Given the description of an element on the screen output the (x, y) to click on. 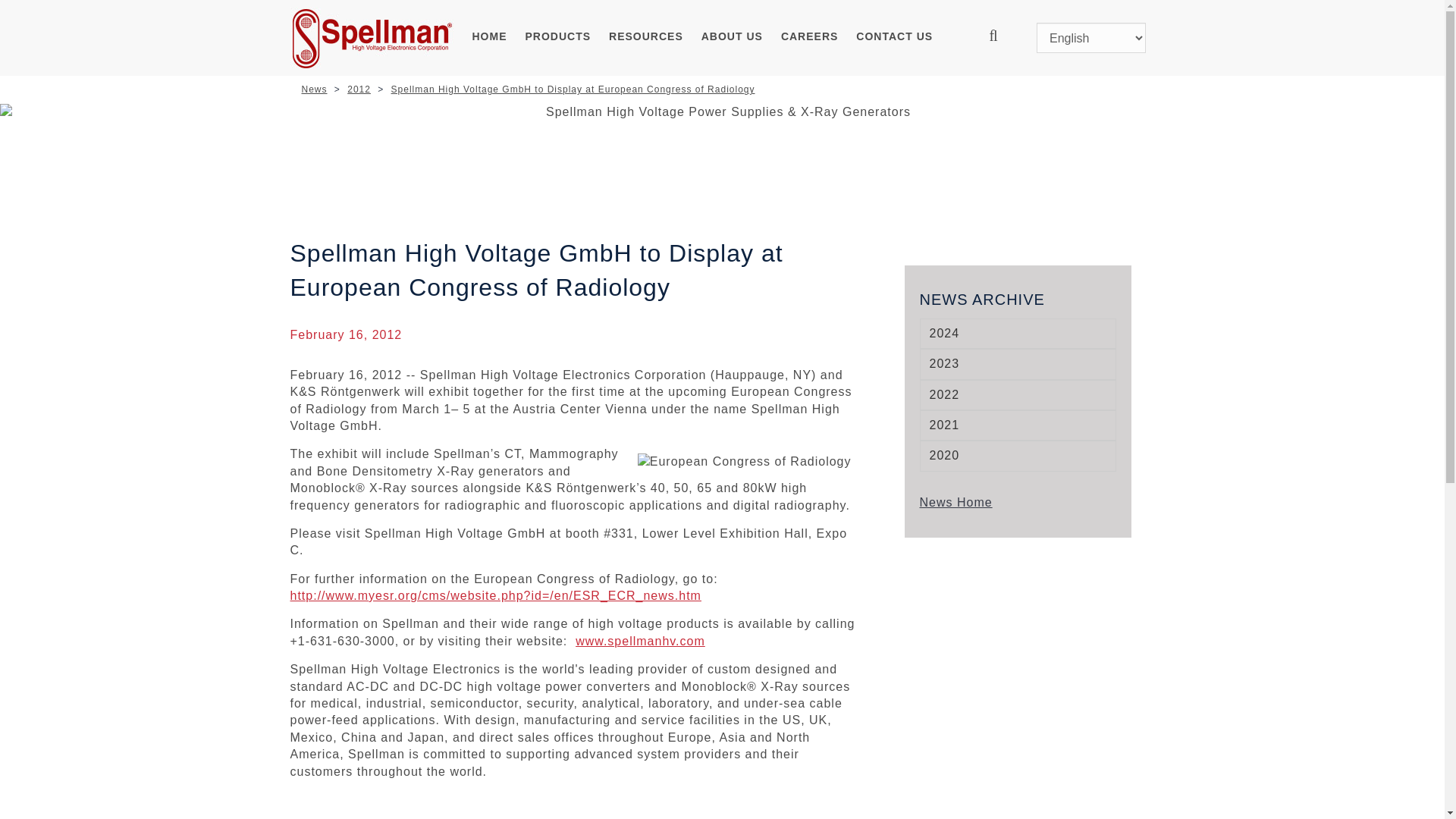
HOME (489, 37)
News (314, 89)
ABOUT US (731, 37)
News Home (954, 502)
PRODUCTS (557, 37)
www.spellmanhv.com (639, 640)
2021 (1017, 425)
2023 (1017, 363)
RESOURCES (646, 37)
Spellman High Voltage Electronics Corporation's Logo (370, 37)
CAREERS (809, 37)
2012 (359, 89)
2020 (1017, 455)
2024 (1017, 333)
